Given the description of an element on the screen output the (x, y) to click on. 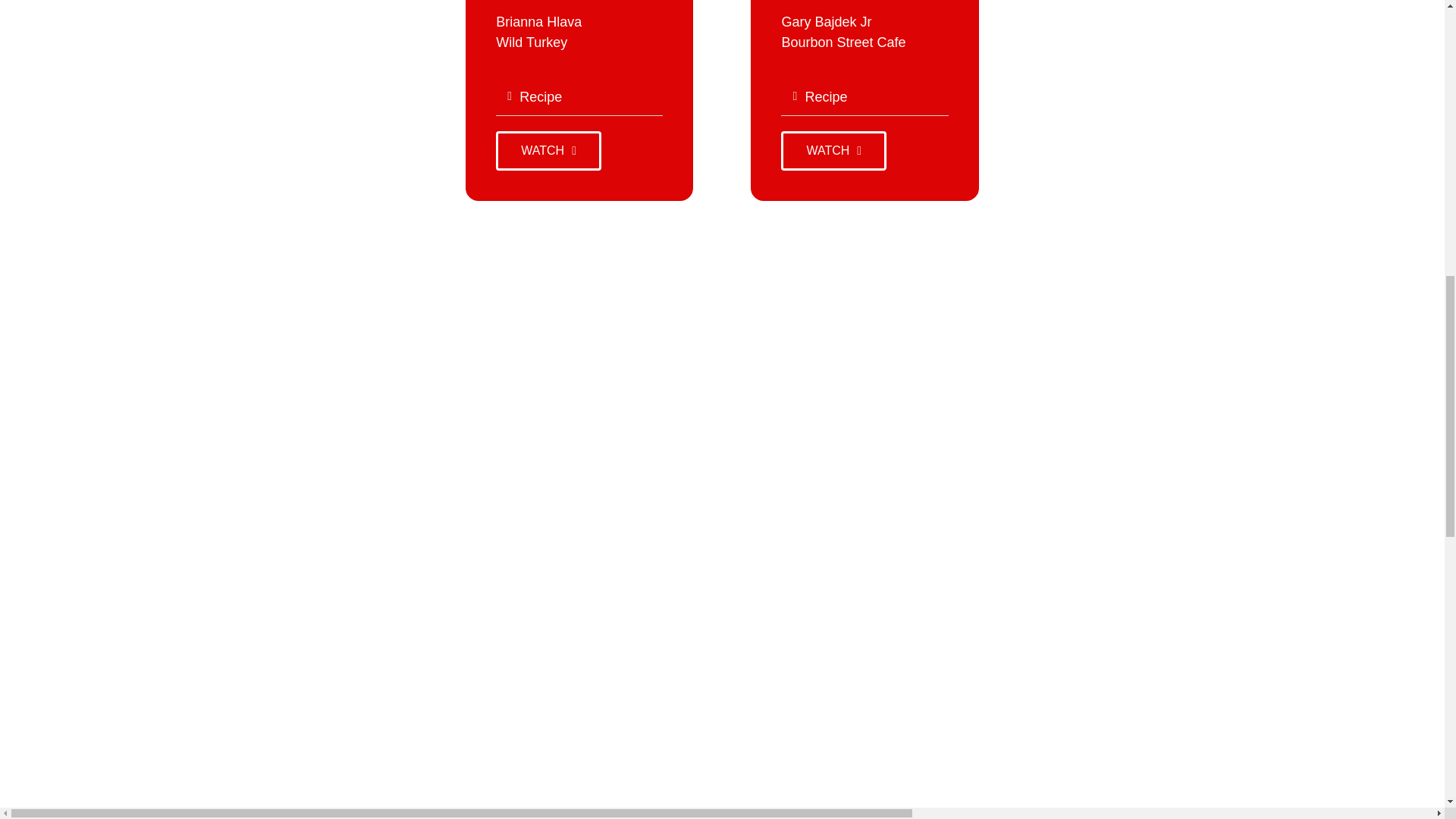
WATCH (833, 150)
Recipe (540, 96)
Recipe (826, 96)
WATCH (548, 150)
